Given the description of an element on the screen output the (x, y) to click on. 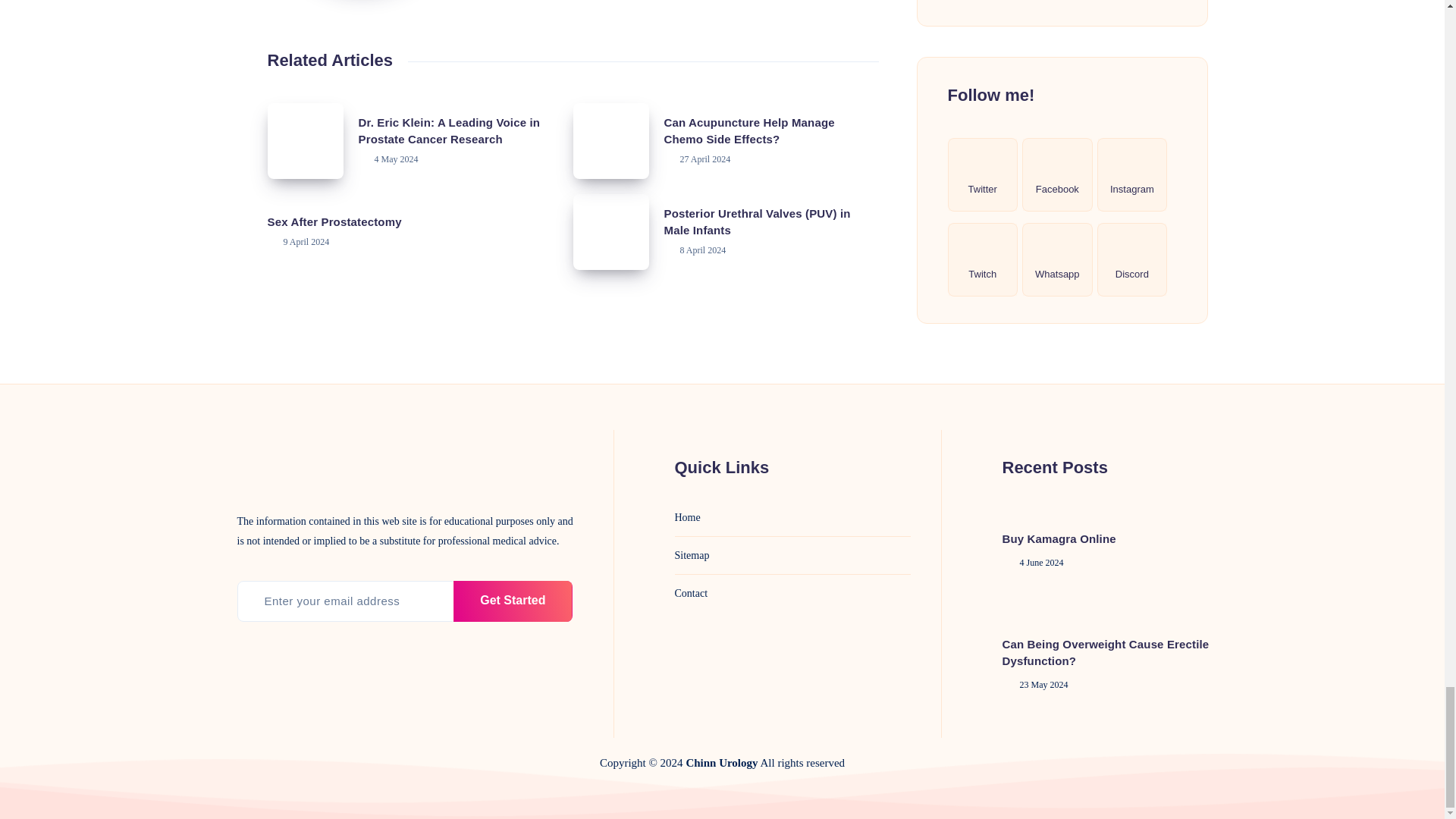
Dr. Eric Klein: A Leading Voice in Prostate Cancer Research (304, 141)
